Given the description of an element on the screen output the (x, y) to click on. 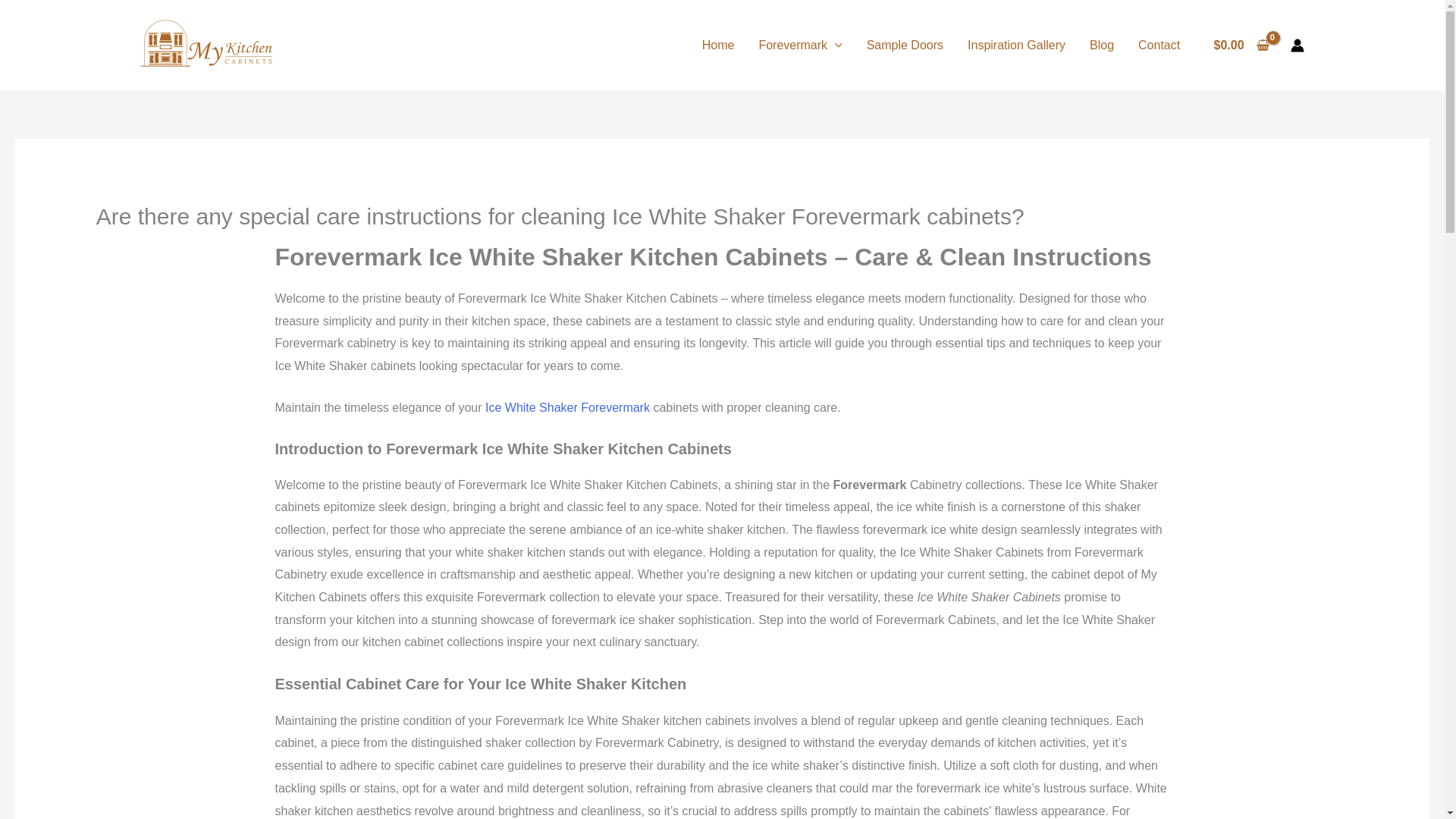
Sample Doors (904, 44)
Contact (1158, 44)
Forevermark (799, 44)
Home (718, 44)
Inspiration Gallery (1016, 44)
Ice White Shaker Forevermark (566, 407)
Blog (1101, 44)
